Given the description of an element on the screen output the (x, y) to click on. 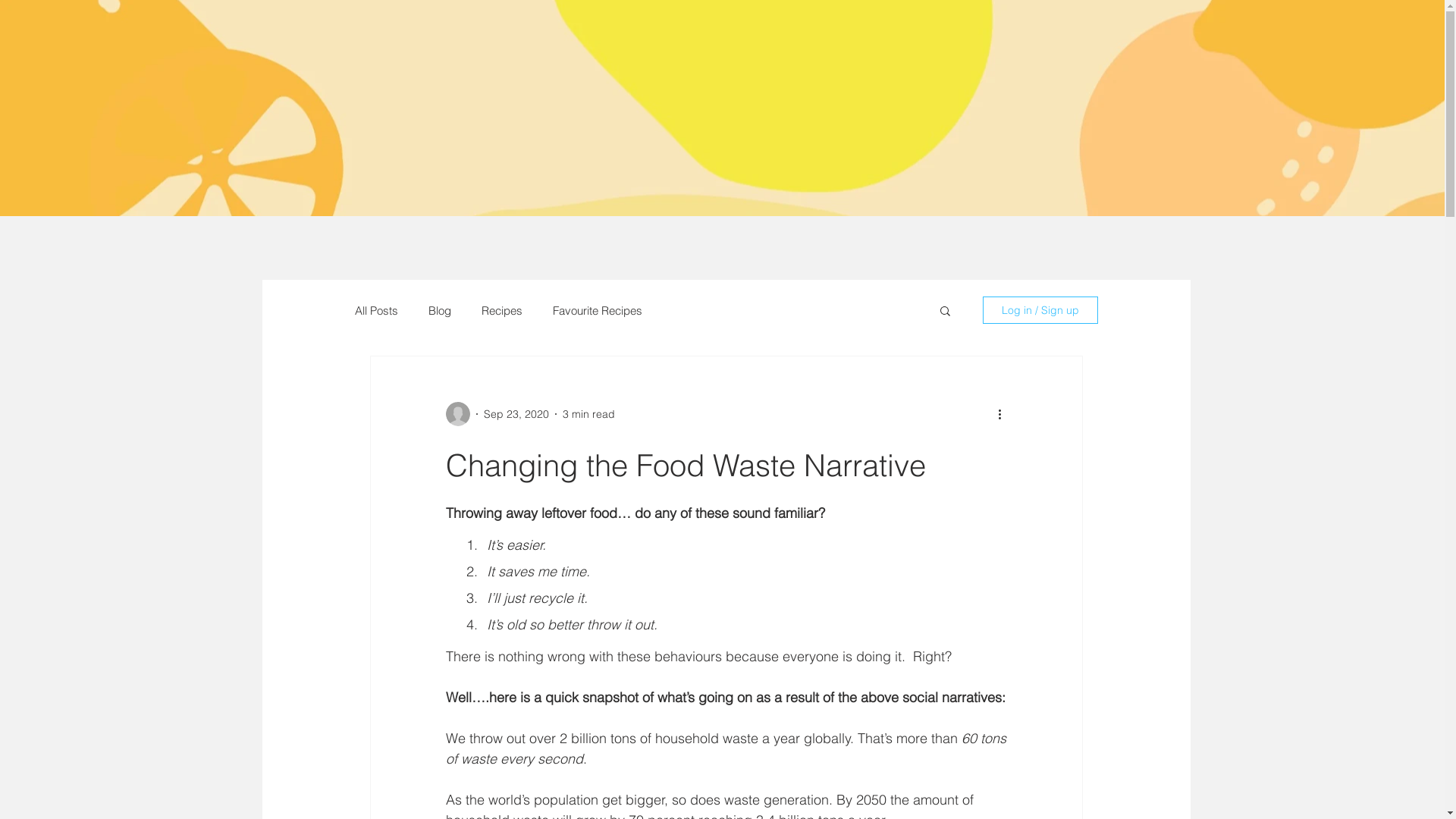
Log in / Sign up Element type: text (1040, 309)
All Posts Element type: text (376, 310)
POD LEADERS Element type: text (719, 112)
Blog Element type: text (438, 310)
ABOUT US Element type: text (137, 112)
CONTACT Element type: text (1309, 112)
Recipes Element type: text (500, 310)
Favourite Recipes Element type: text (596, 310)
POD MEMBERS Element type: text (423, 112)
